Given the description of an element on the screen output the (x, y) to click on. 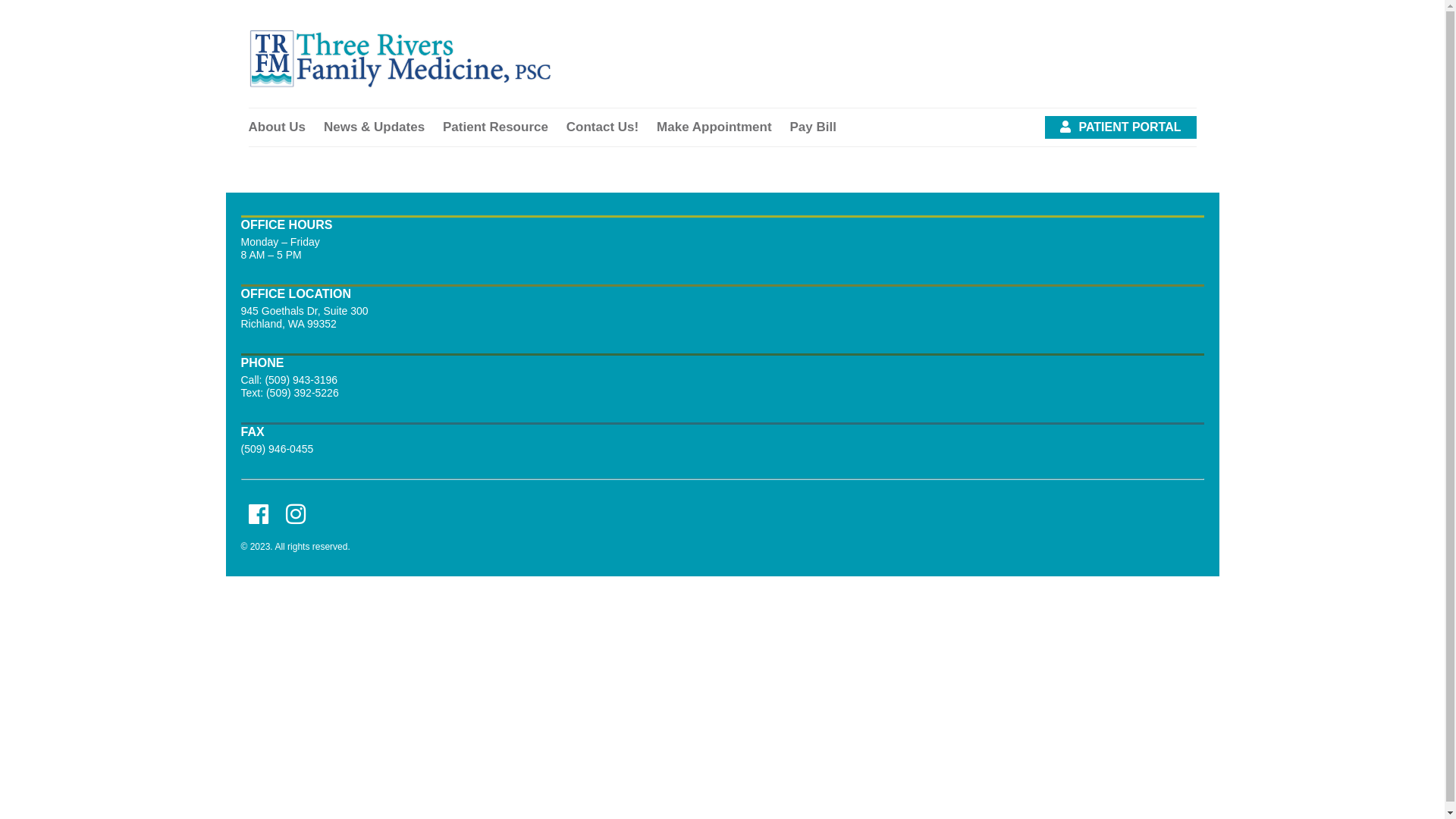
PATIENT PORTAL Element type: text (1119, 127)
About Us Element type: text (277, 126)
Patient Resource Element type: text (495, 126)
Make Appointment Element type: text (713, 126)
News & Updates Element type: text (373, 126)
Pay Bill Element type: text (812, 126)
Contact Us! Element type: text (602, 126)
